Given the description of an element on the screen output the (x, y) to click on. 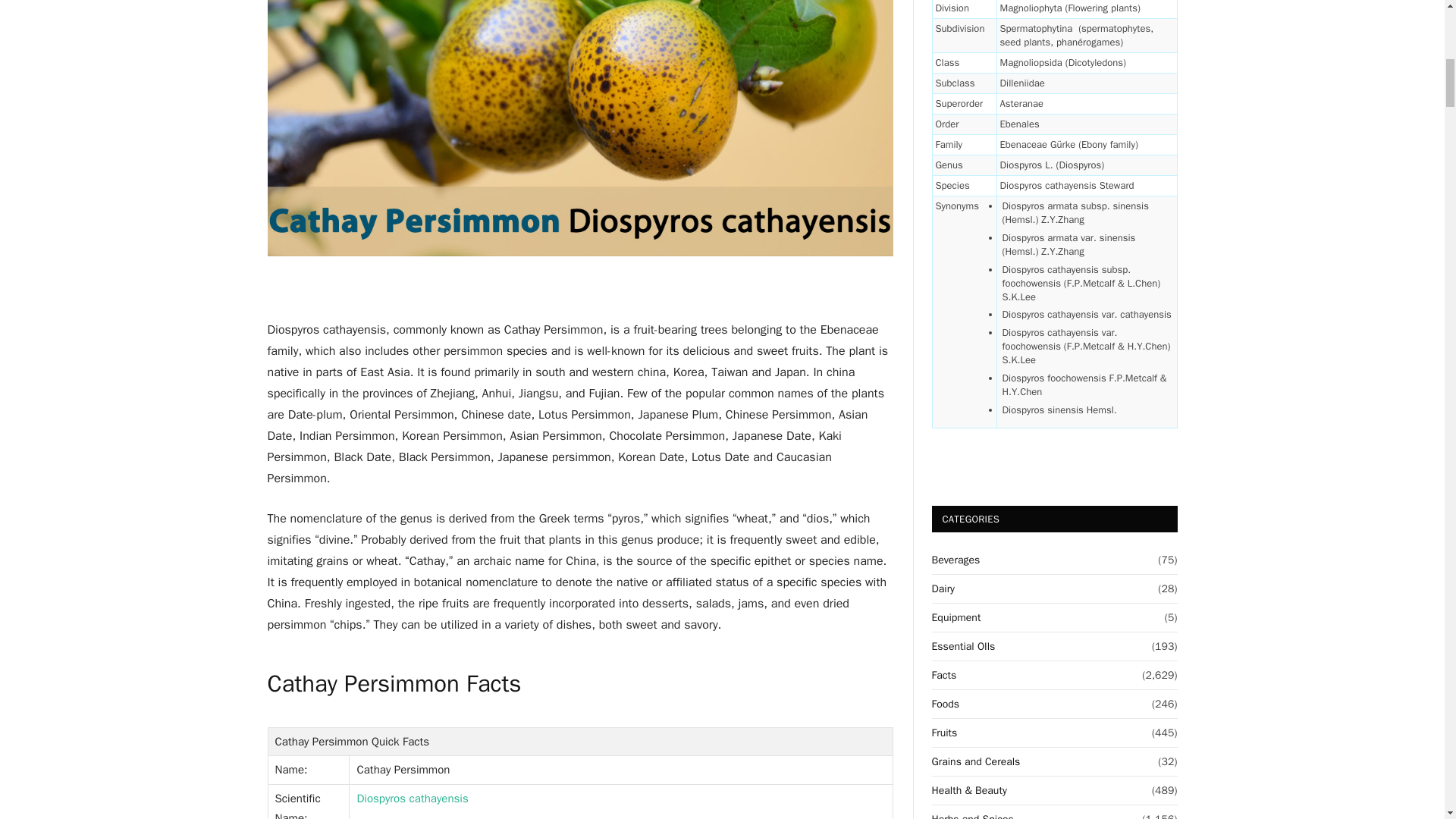
Diospyros cathayensis (411, 798)
